Given the description of an element on the screen output the (x, y) to click on. 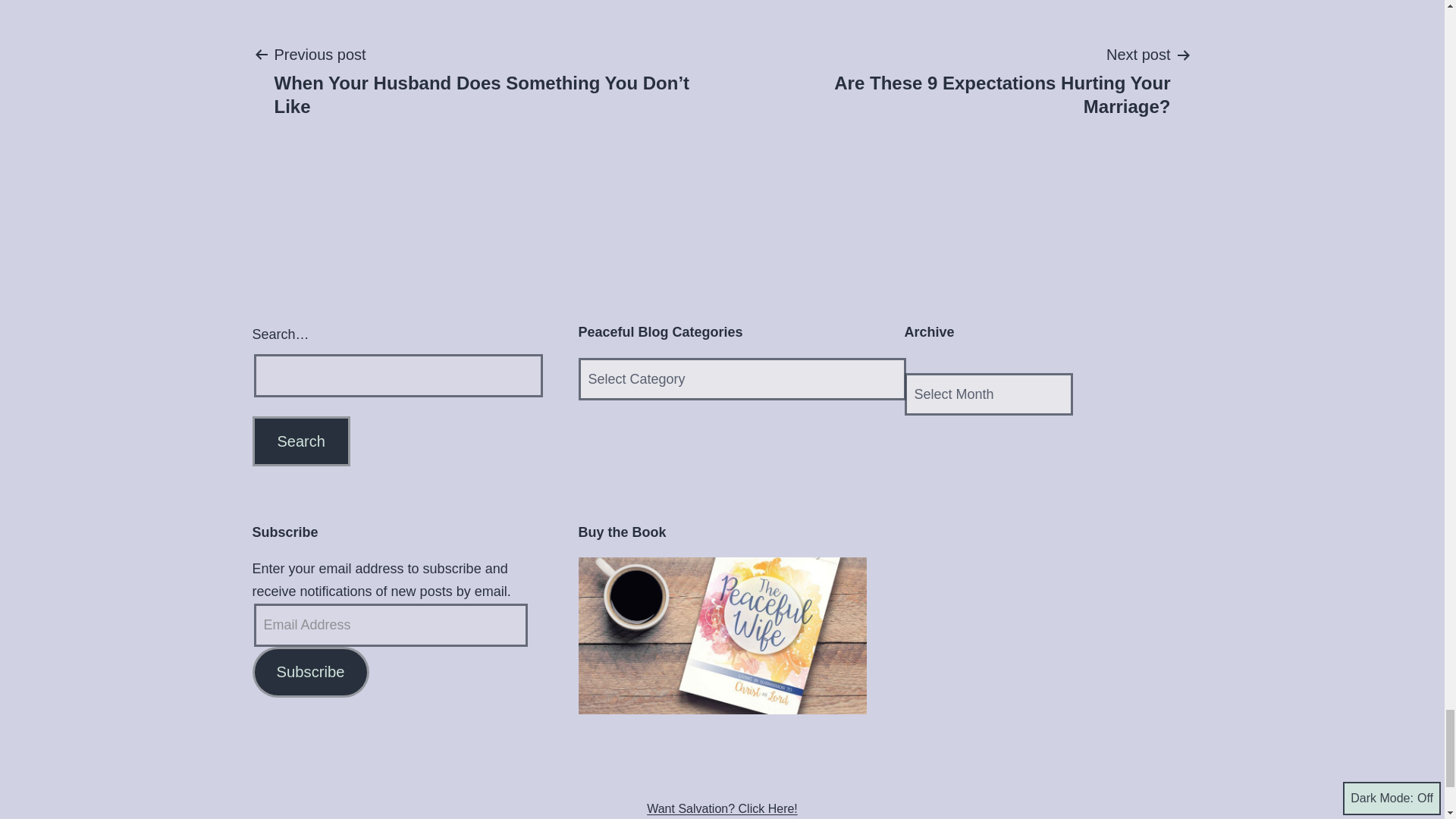
Search (300, 441)
Want Salvation? Click Here! (722, 804)
Subscribe (309, 672)
Search (960, 79)
Search (300, 441)
